Given the description of an element on the screen output the (x, y) to click on. 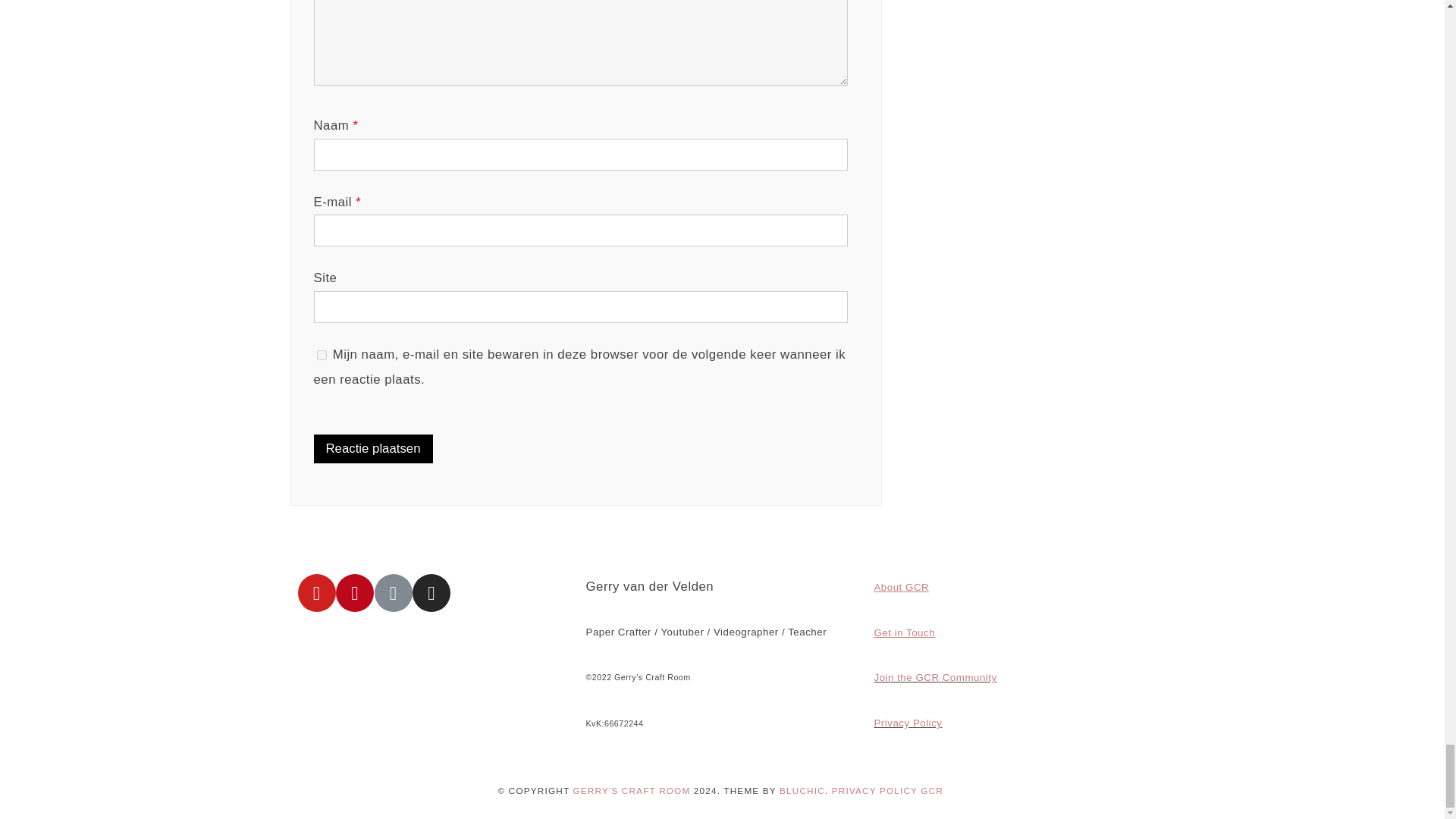
Privacy Policy (907, 722)
Join the GCR Community (934, 677)
Reactie plaatsen (373, 448)
Reactie plaatsen (373, 448)
yes (321, 355)
About GCR (900, 586)
Get in Touch (903, 631)
